Given the description of an element on the screen output the (x, y) to click on. 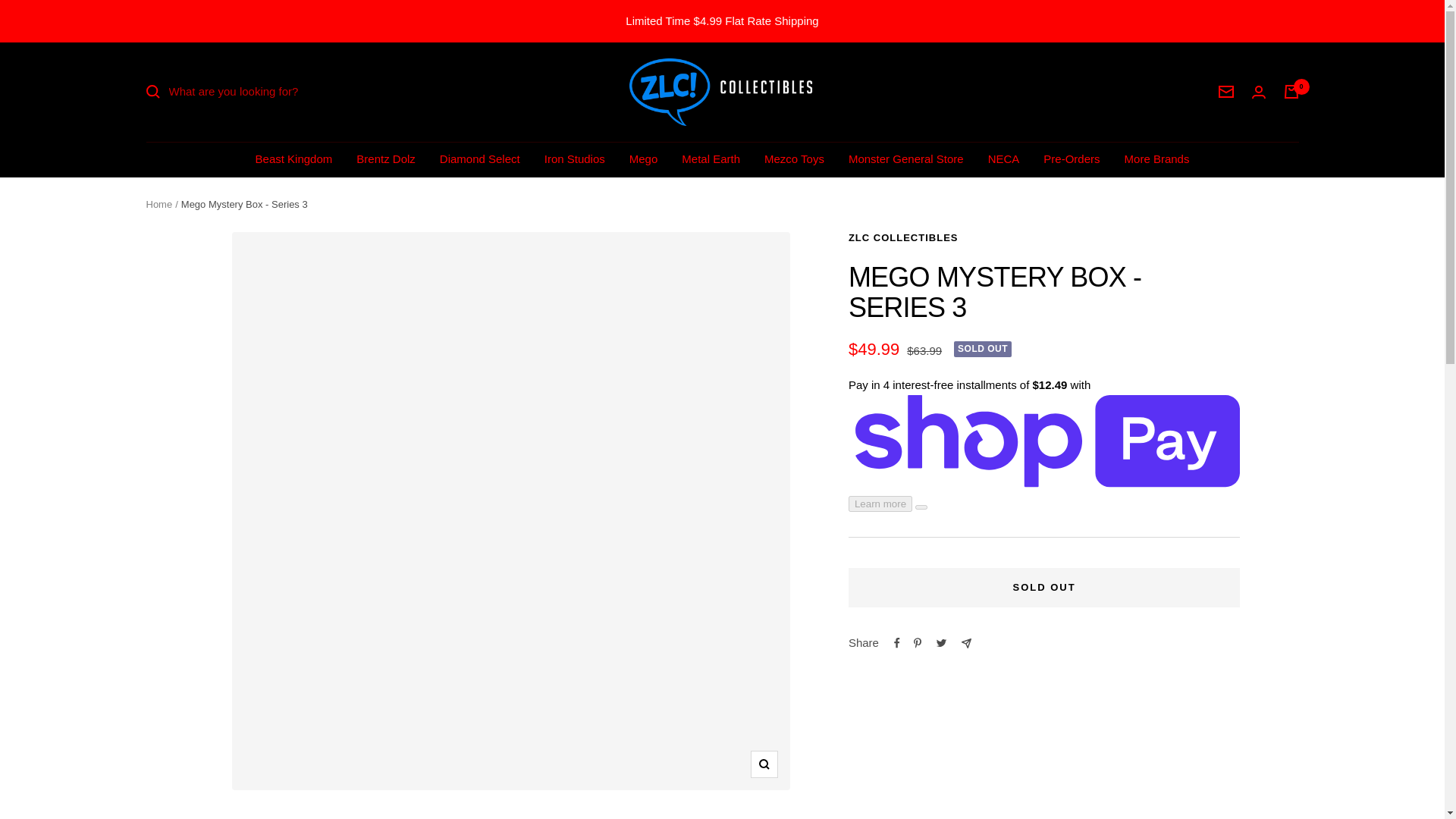
Beast Kingdom (294, 158)
More Brands (1156, 158)
Monster General Store (905, 158)
Metal Earth (710, 158)
NECA (1004, 158)
Zlc Collectibles (721, 92)
Brentz Dolz (385, 158)
Newsletter (1225, 91)
Pre-Orders (1071, 158)
0 (1290, 91)
Mego (643, 158)
Mezco Toys (794, 158)
Iron Studios (574, 158)
Diamond Select (479, 158)
